Given the description of an element on the screen output the (x, y) to click on. 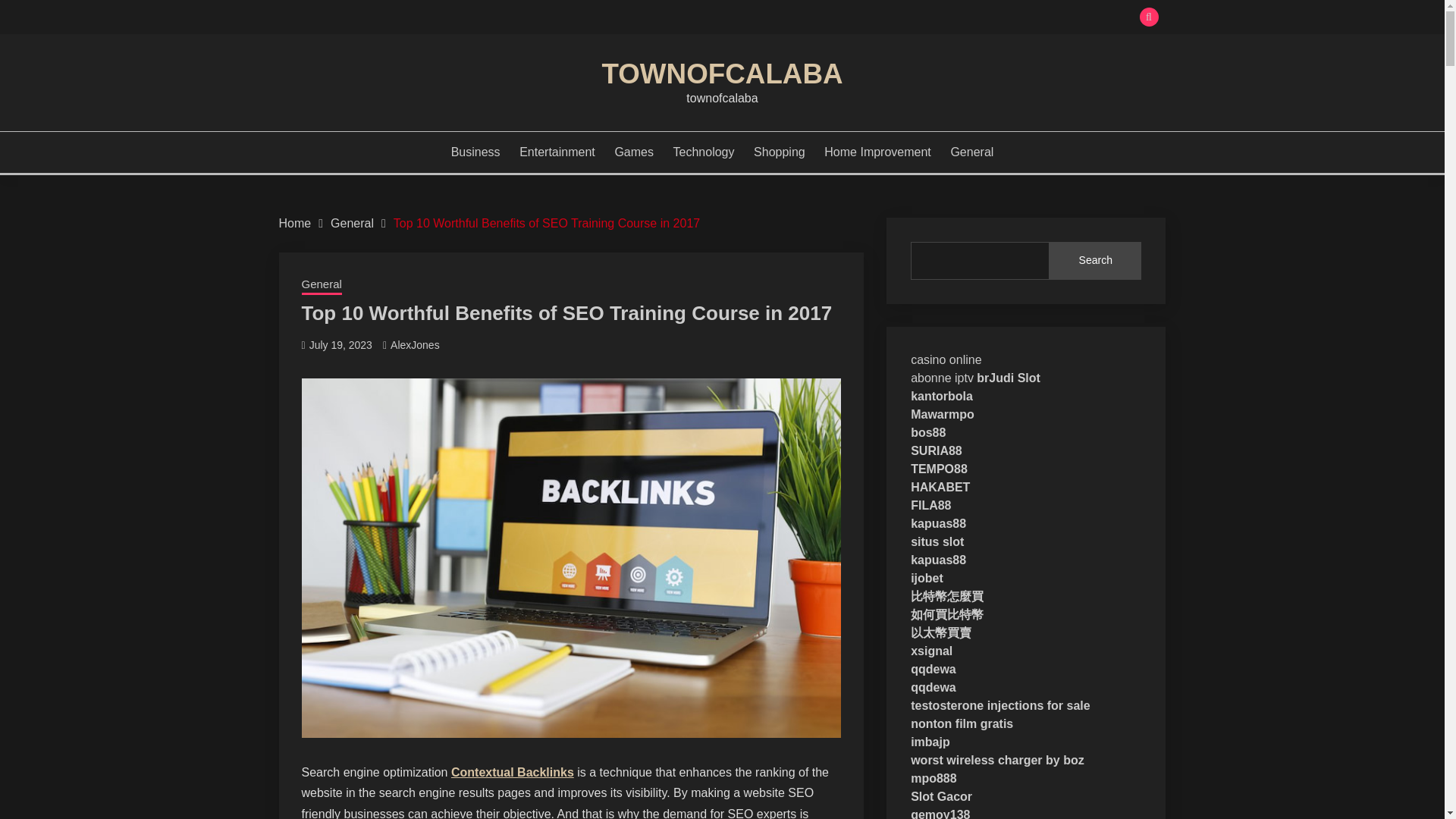
July 19, 2023 (340, 345)
Entertainment (557, 152)
TOWNOFCALABA (722, 73)
abonne iptv (942, 377)
General (971, 152)
casino online (946, 359)
General (352, 223)
Home (295, 223)
Top 10 Worthful Benefits of SEO Training Course in 2017 (546, 223)
Business (475, 152)
Home Improvement (877, 152)
General (321, 285)
Contextual Backlinks (512, 771)
Games (633, 152)
AlexJones (414, 345)
